Given the description of an element on the screen output the (x, y) to click on. 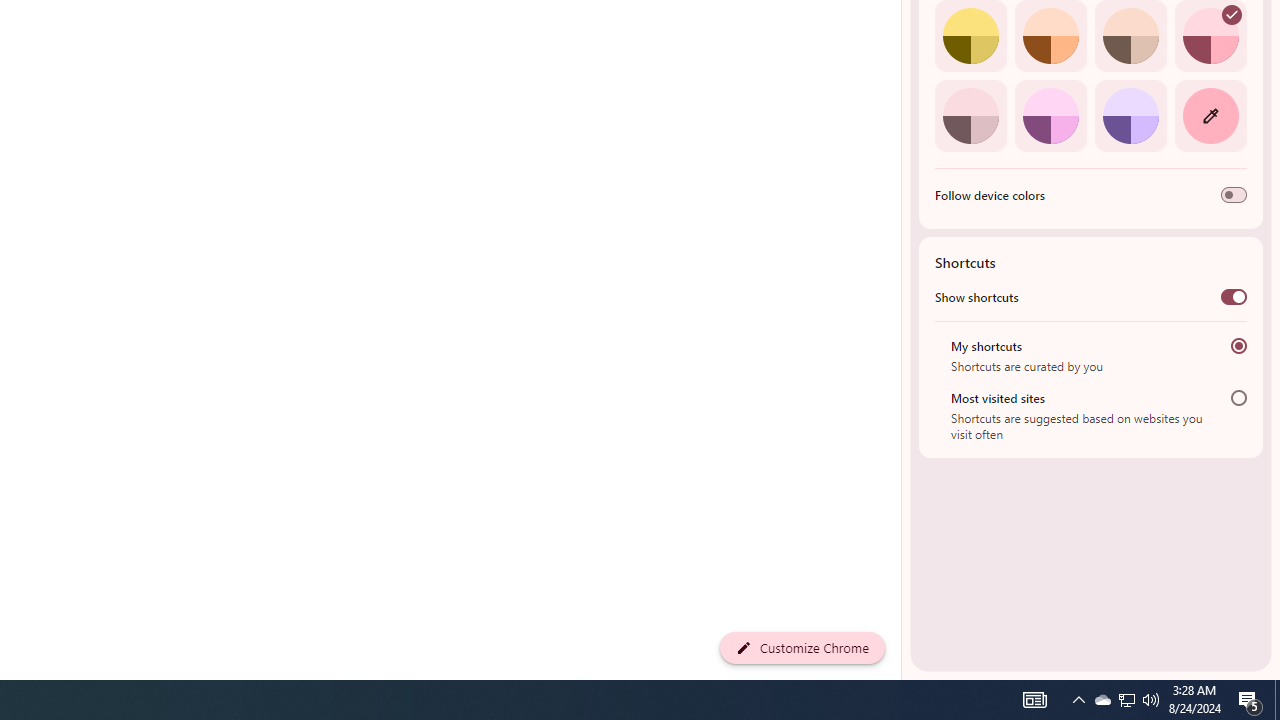
AutomationID: svg (1231, 15)
Violet (1130, 115)
Apricot (1130, 36)
Orange (1050, 36)
Side Panel Resize Handle (905, 39)
My shortcuts (1238, 345)
Most visited sites (1238, 398)
Rose (1210, 36)
Custom color (1210, 115)
Pink (970, 115)
Follow device colors (1233, 195)
Citron (970, 36)
Show shortcuts (1233, 296)
